Given the description of an element on the screen output the (x, y) to click on. 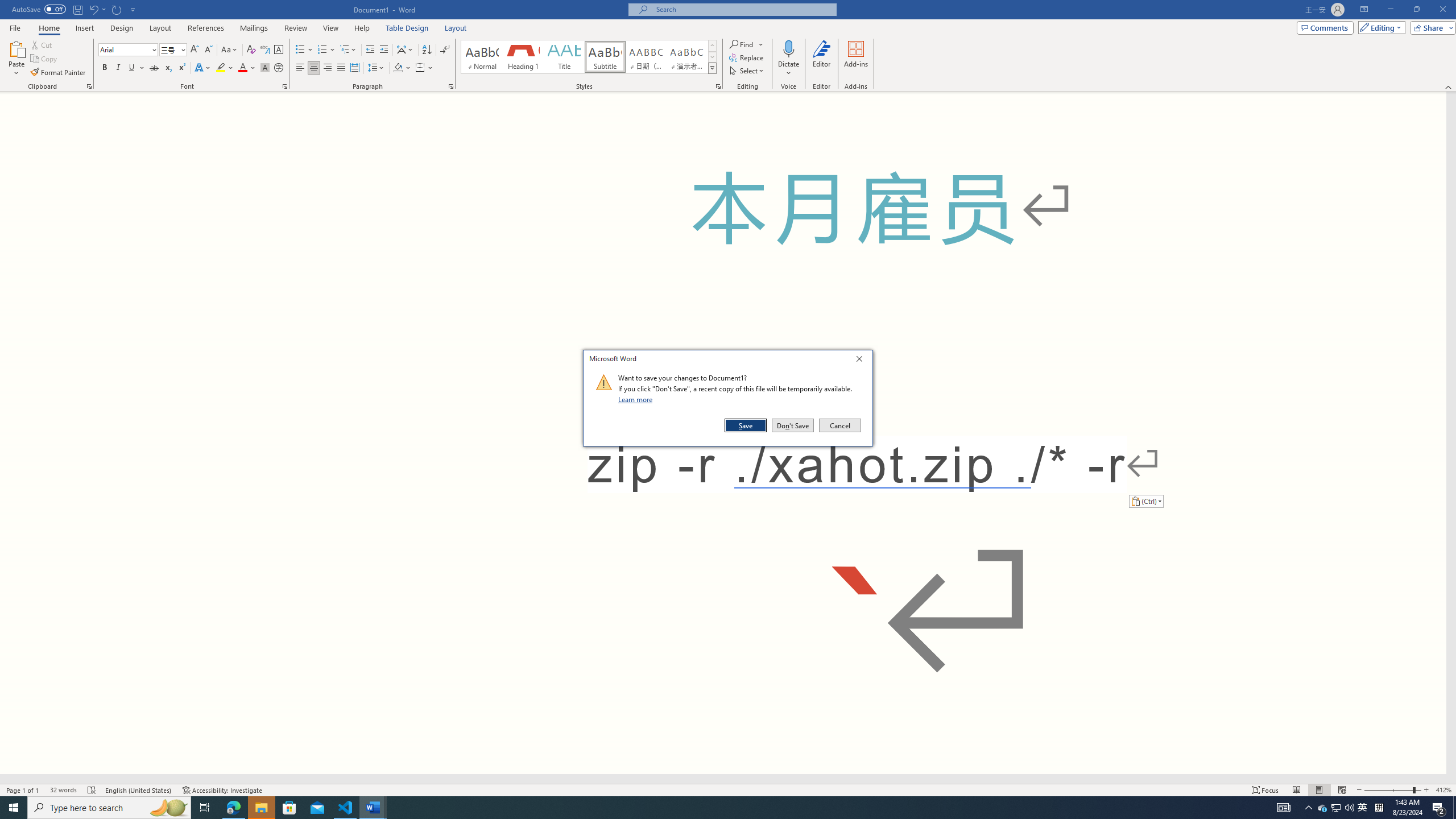
Grow Font (193, 49)
Class: NetUIScrollBar (722, 778)
Language English (United States) (138, 790)
Character Shading (264, 67)
Multilevel List (347, 49)
Clear Formatting (250, 49)
Styles... (717, 85)
Row up (711, 45)
Type here to search (108, 807)
